Given the description of an element on the screen output the (x, y) to click on. 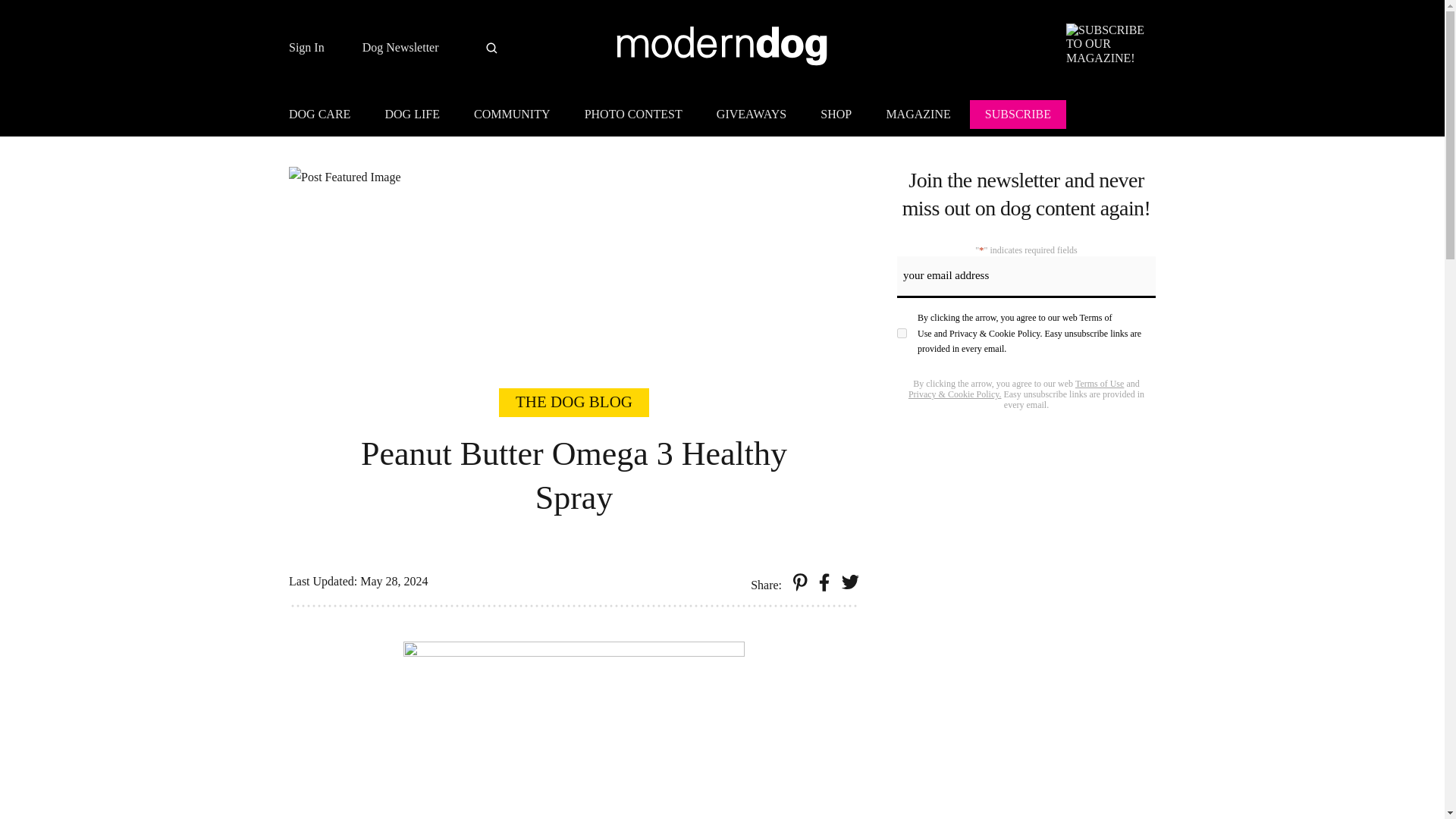
Sign In (306, 47)
DOG LIFE (411, 116)
Dog Newsletter (400, 47)
DOG CARE (326, 116)
